Given the description of an element on the screen output the (x, y) to click on. 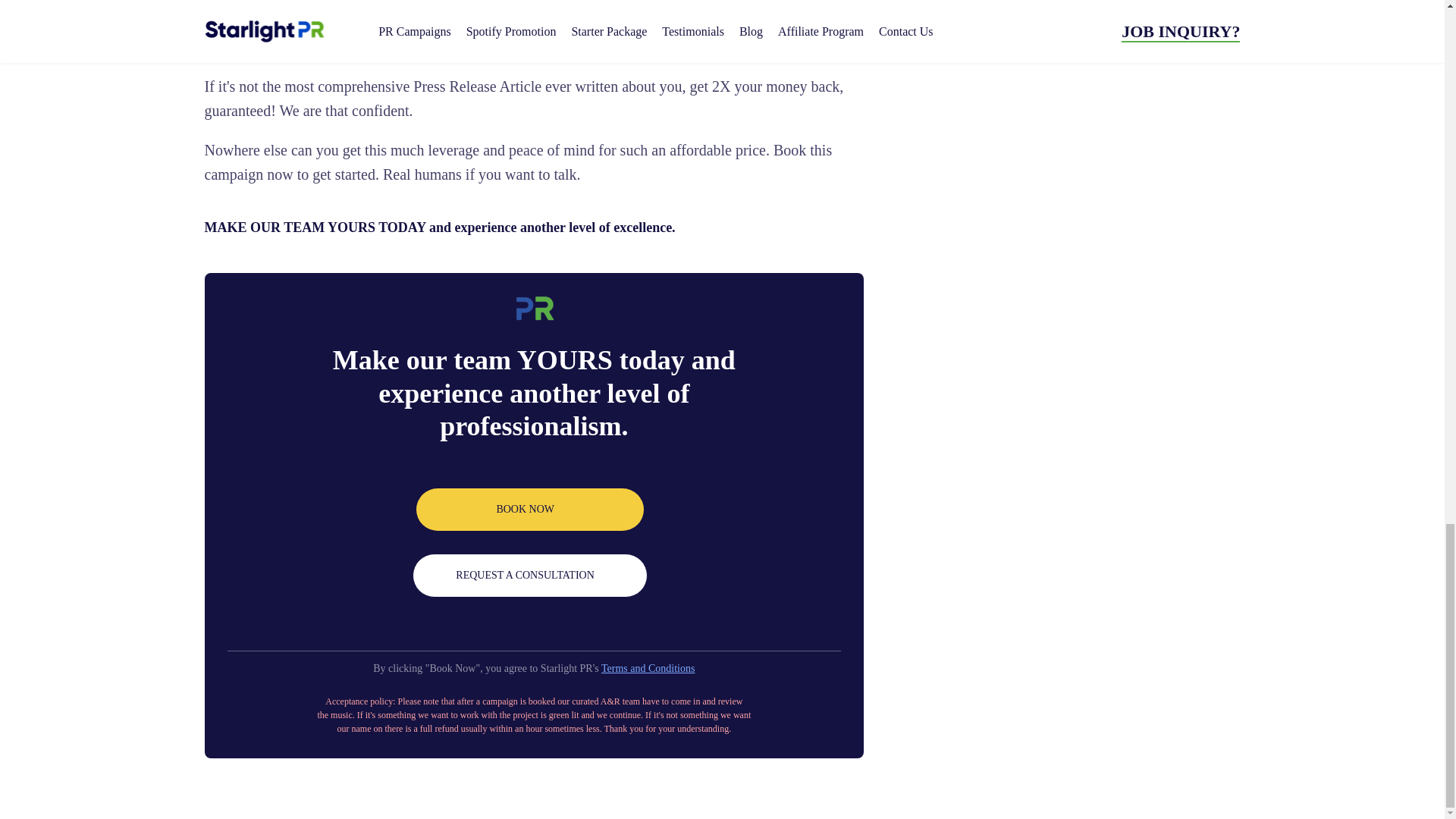
REQUEST A CONSULTATION (529, 575)
Terms and Conditions (647, 668)
BOOK NOW (529, 509)
